Given the description of an element on the screen output the (x, y) to click on. 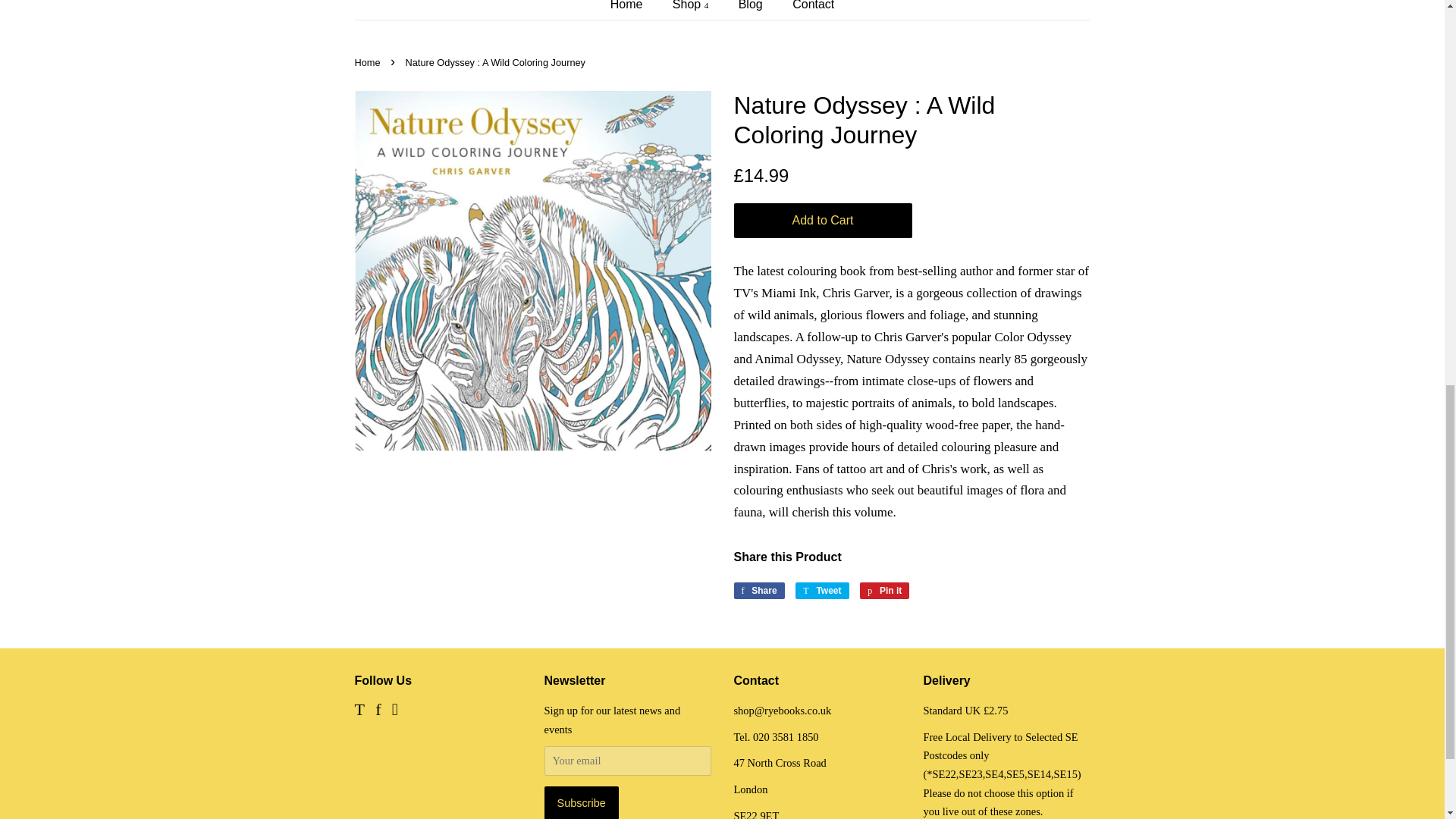
Tweet on Twitter (821, 590)
Share on Facebook (758, 590)
Subscribe (581, 802)
Pin on Pinterest (884, 590)
Back to the frontpage (369, 61)
